Given the description of an element on the screen output the (x, y) to click on. 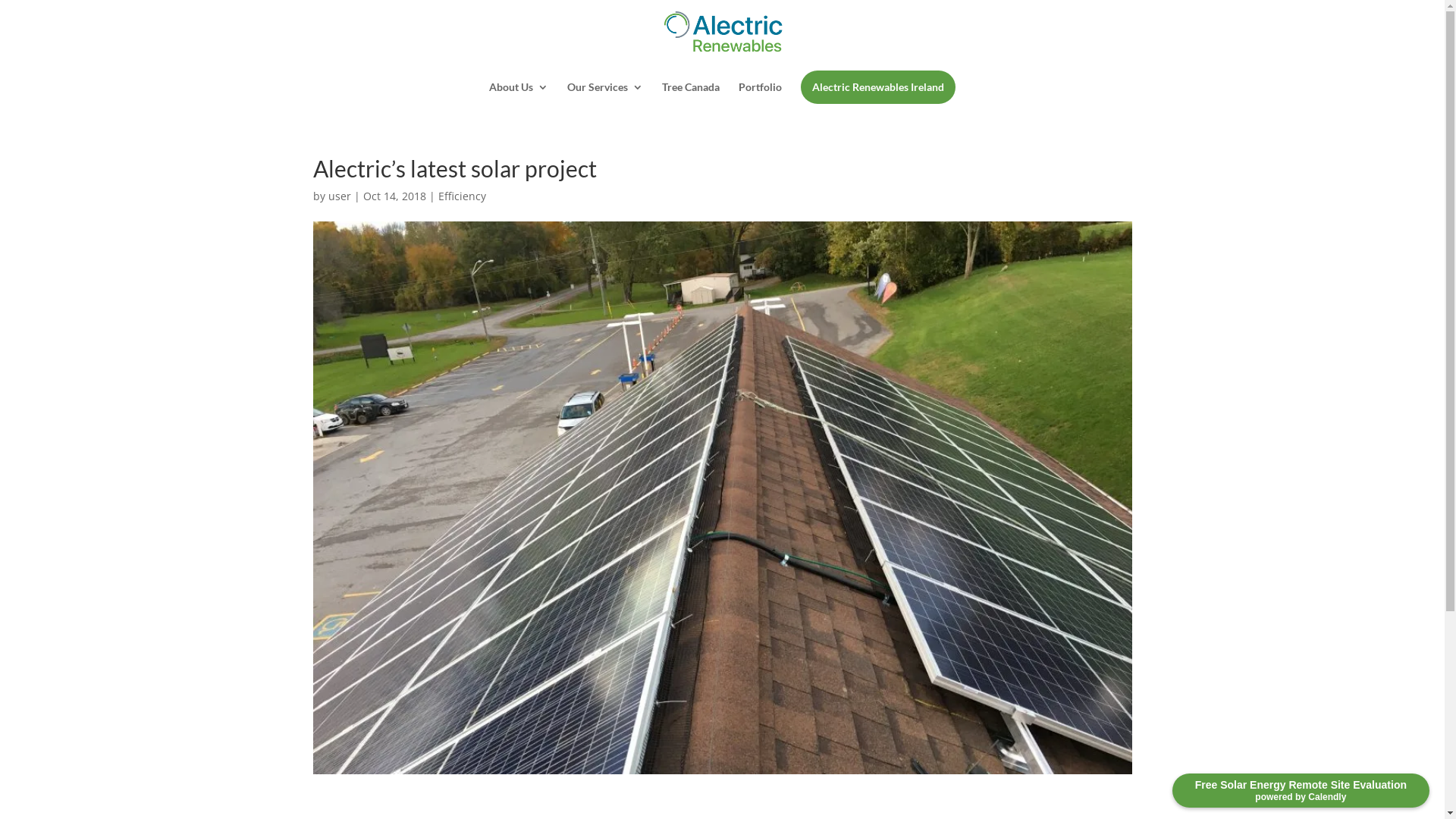
user Element type: text (338, 195)
About Us Element type: text (518, 93)
Portfolio Element type: text (759, 93)
Tree Canada Element type: text (690, 93)
Efficiency Element type: text (462, 195)
Alectric Renewables Ireland Element type: text (877, 86)
Our Services Element type: text (605, 93)
